Given the description of an element on the screen output the (x, y) to click on. 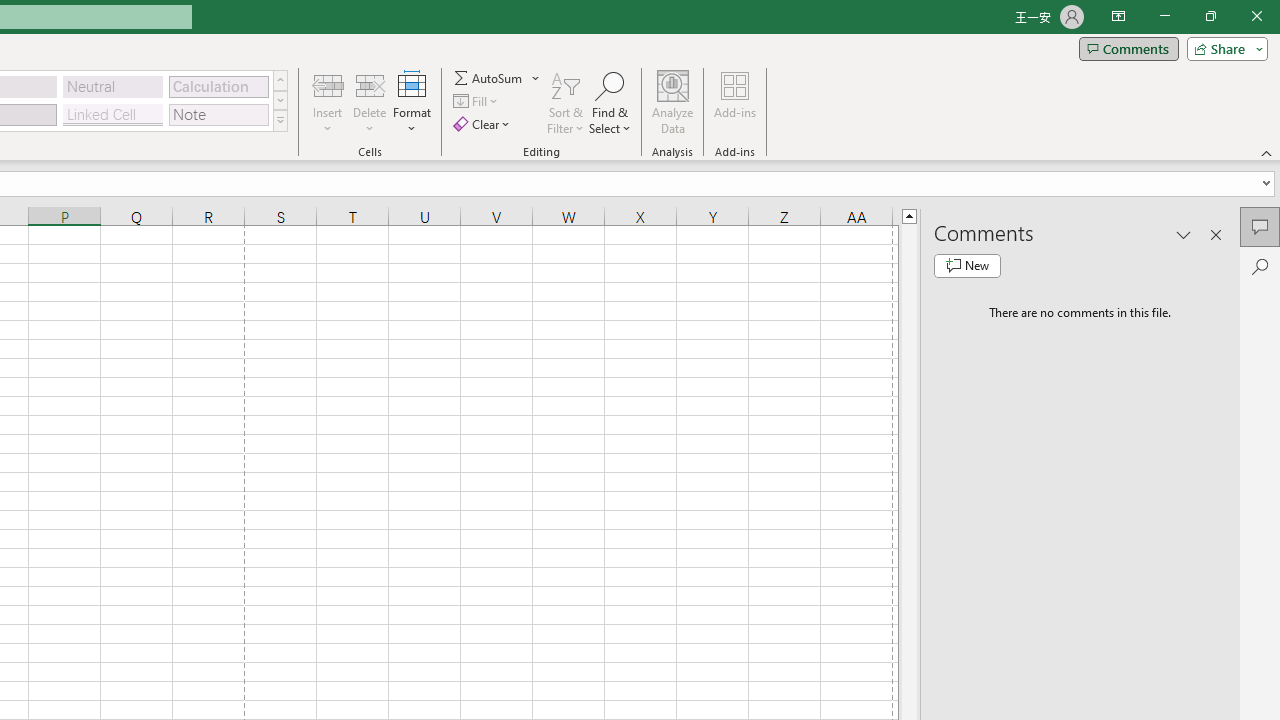
Close pane (1215, 234)
Fill (477, 101)
Ribbon Display Options (1118, 16)
Row up (280, 79)
Note (218, 114)
